Given the description of an element on the screen output the (x, y) to click on. 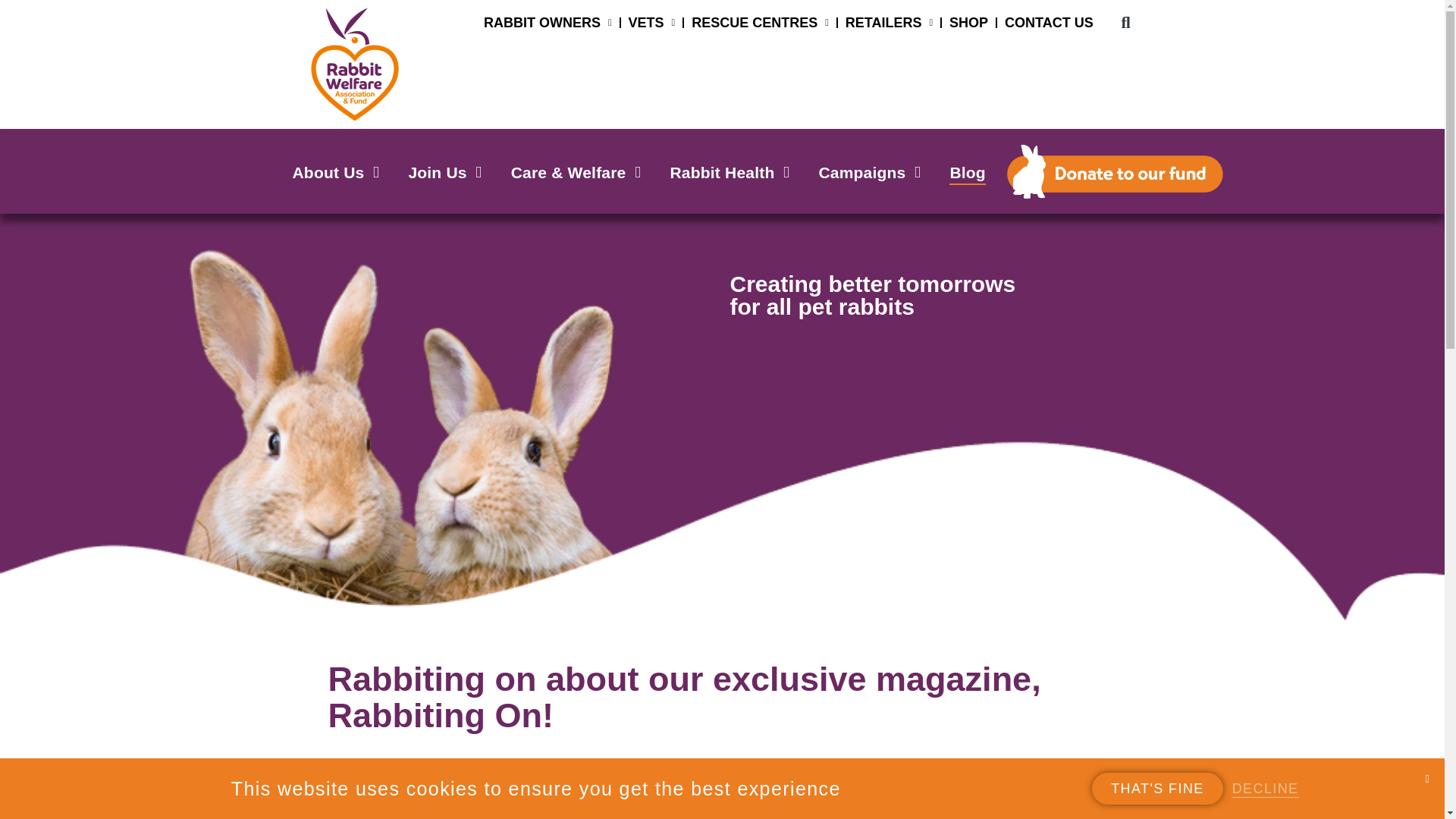
VETS (651, 22)
CONTACT US (1048, 22)
RETAILERS (889, 22)
SHOP (968, 22)
RESCUE CENTRES (759, 22)
RABBIT OWNERS (547, 22)
